Given the description of an element on the screen output the (x, y) to click on. 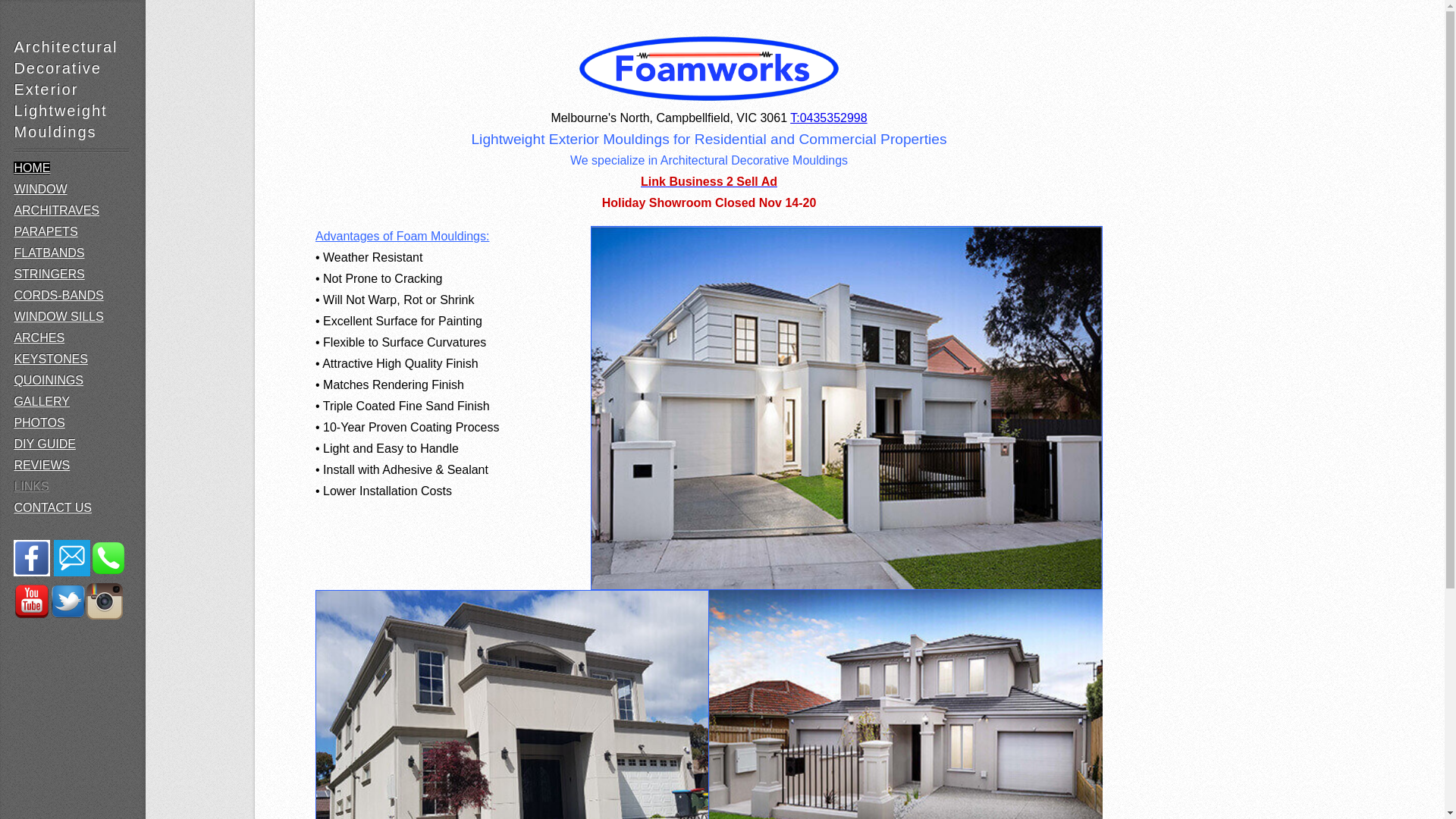
FLATBANDS Element type: text (48, 252)
T:0435352998 Element type: text (828, 117)
PARAPETS Element type: text (45, 231)
QUOININGS Element type: text (48, 379)
CONTACT US Element type: text (52, 507)
KEYSTONES Element type: text (50, 358)
WINDOW Element type: text (39, 188)
REVIEWS Element type: text (41, 464)
STRINGERS Element type: text (48, 273)
HOME Element type: text (31, 167)
Link Business 2 Sell Ad Element type: text (708, 181)
DIY GUIDE Element type: text (44, 443)
CORDS-BANDS Element type: text (58, 294)
PHOTOS Element type: text (38, 422)
WINDOW SILLS Element type: text (58, 316)
ARCHITRAVES Element type: text (56, 209)
LINKS Element type: text (30, 486)
ARCHES Element type: text (38, 337)
GALLERY Element type: text (41, 401)
